Given the description of an element on the screen output the (x, y) to click on. 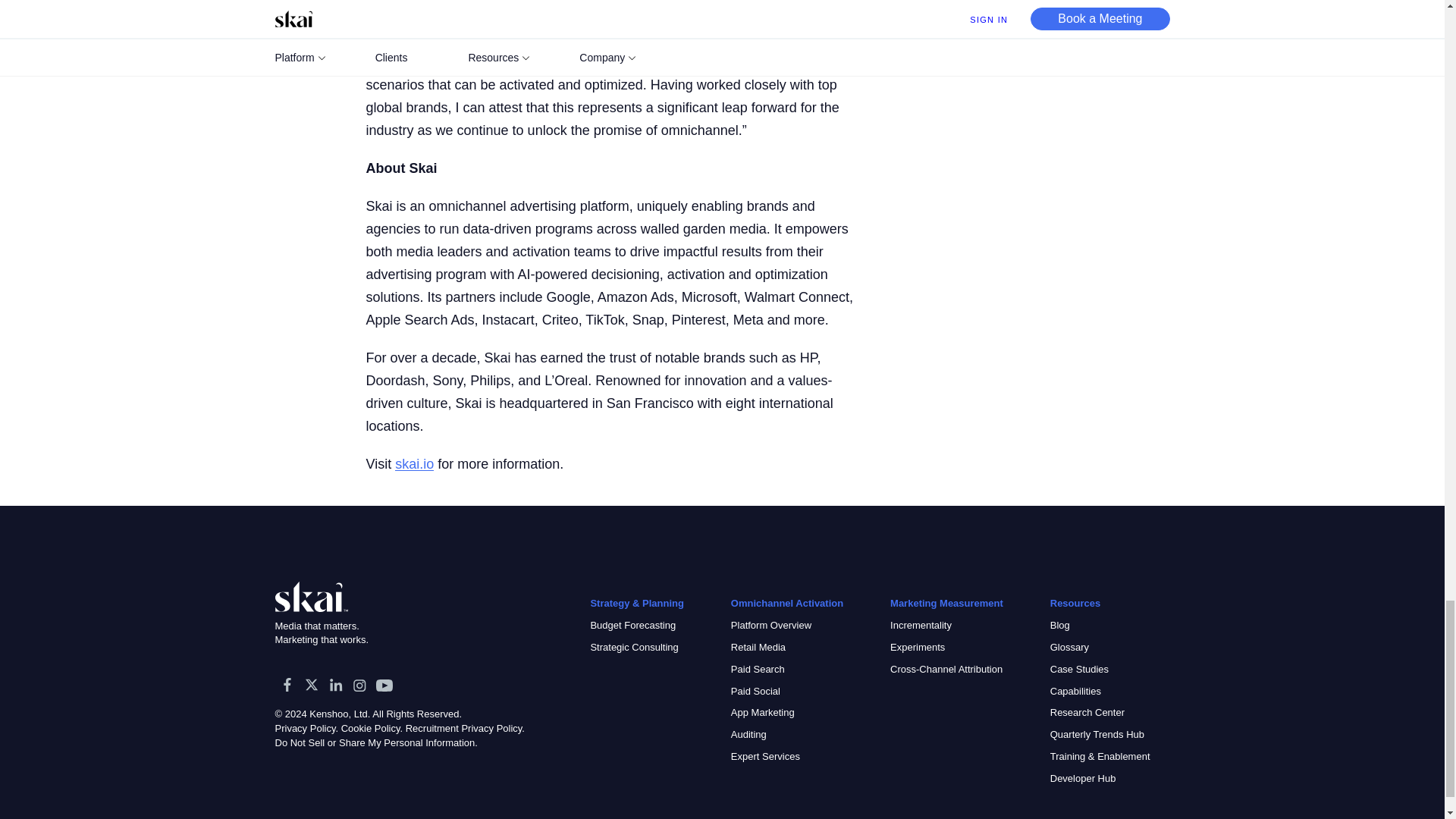
Home Page (323, 596)
skai.io (413, 463)
Join us on Youtube (383, 684)
Follow our Twitter feed (310, 684)
Join us on LinkedIn (335, 684)
Find us on Instagram (359, 684)
Join our Facebook page (286, 684)
